Given the description of an element on the screen output the (x, y) to click on. 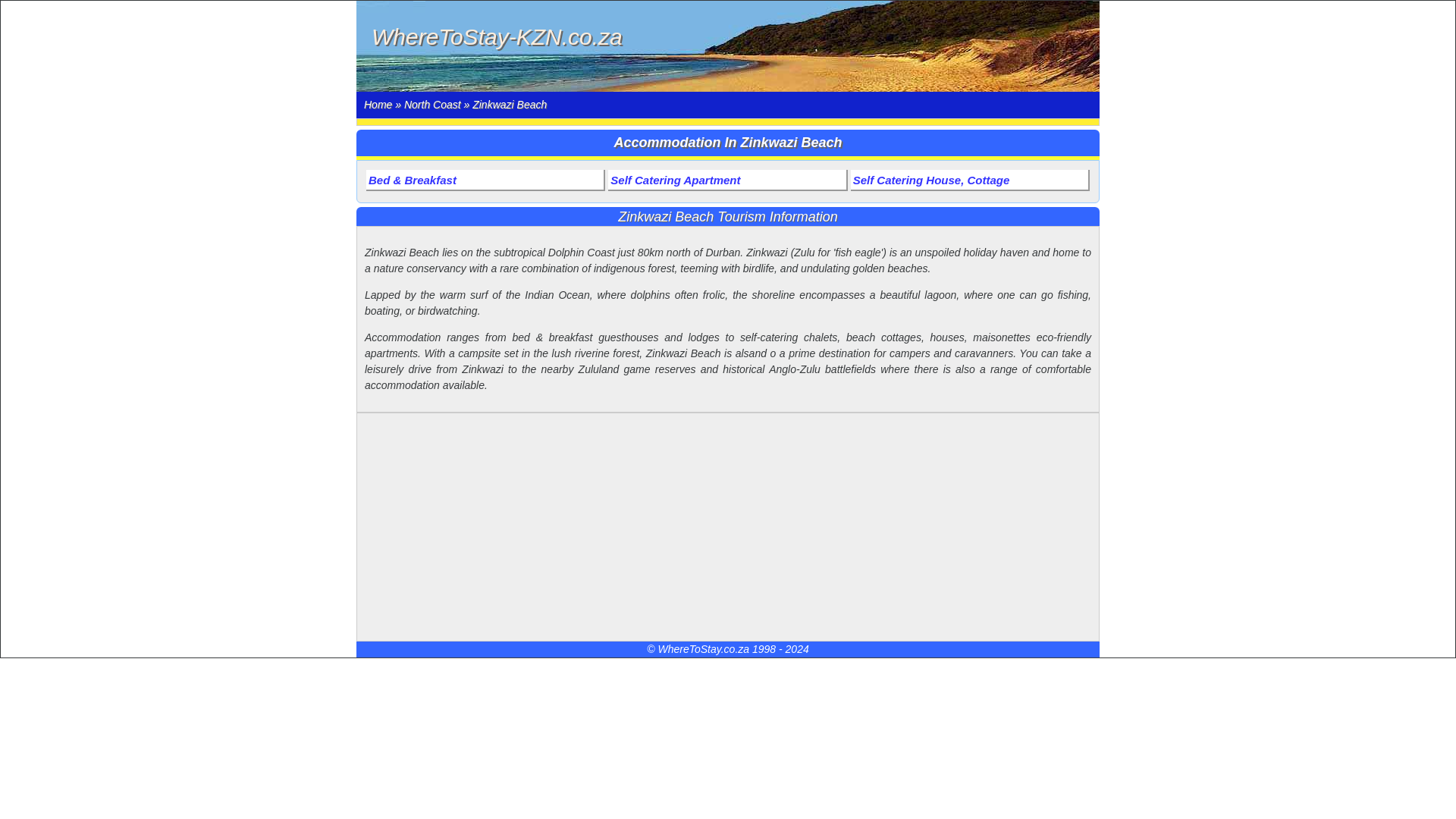
Self Catering Apartment (727, 179)
North Coast (432, 104)
Home (377, 104)
Self Catering House, Cottage (969, 179)
